Given the description of an element on the screen output the (x, y) to click on. 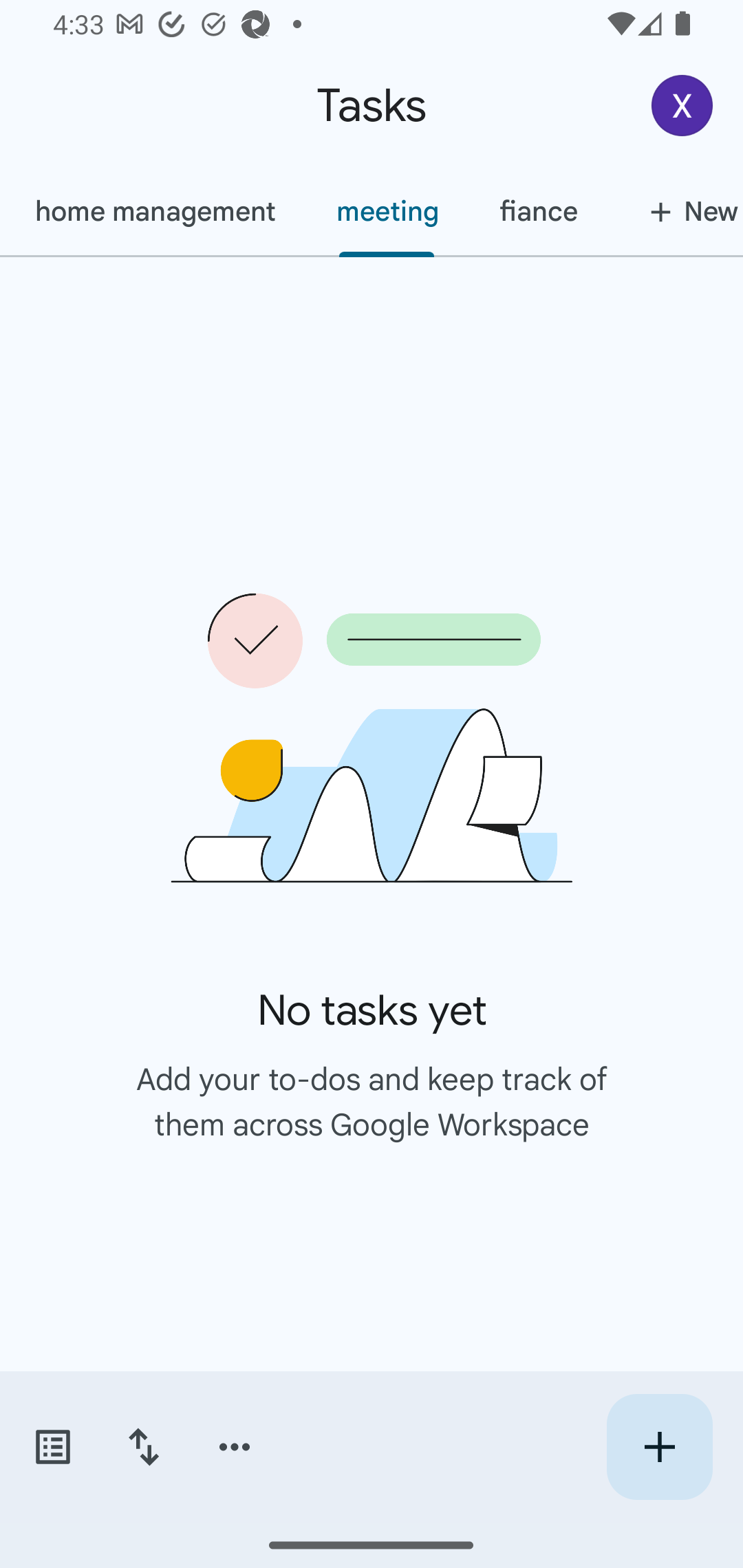
home management (154, 211)
fiance (537, 211)
New list (675, 211)
Switch task lists (52, 1447)
Create new task (659, 1446)
Change sort order (143, 1446)
More options (234, 1446)
